Given the description of an element on the screen output the (x, y) to click on. 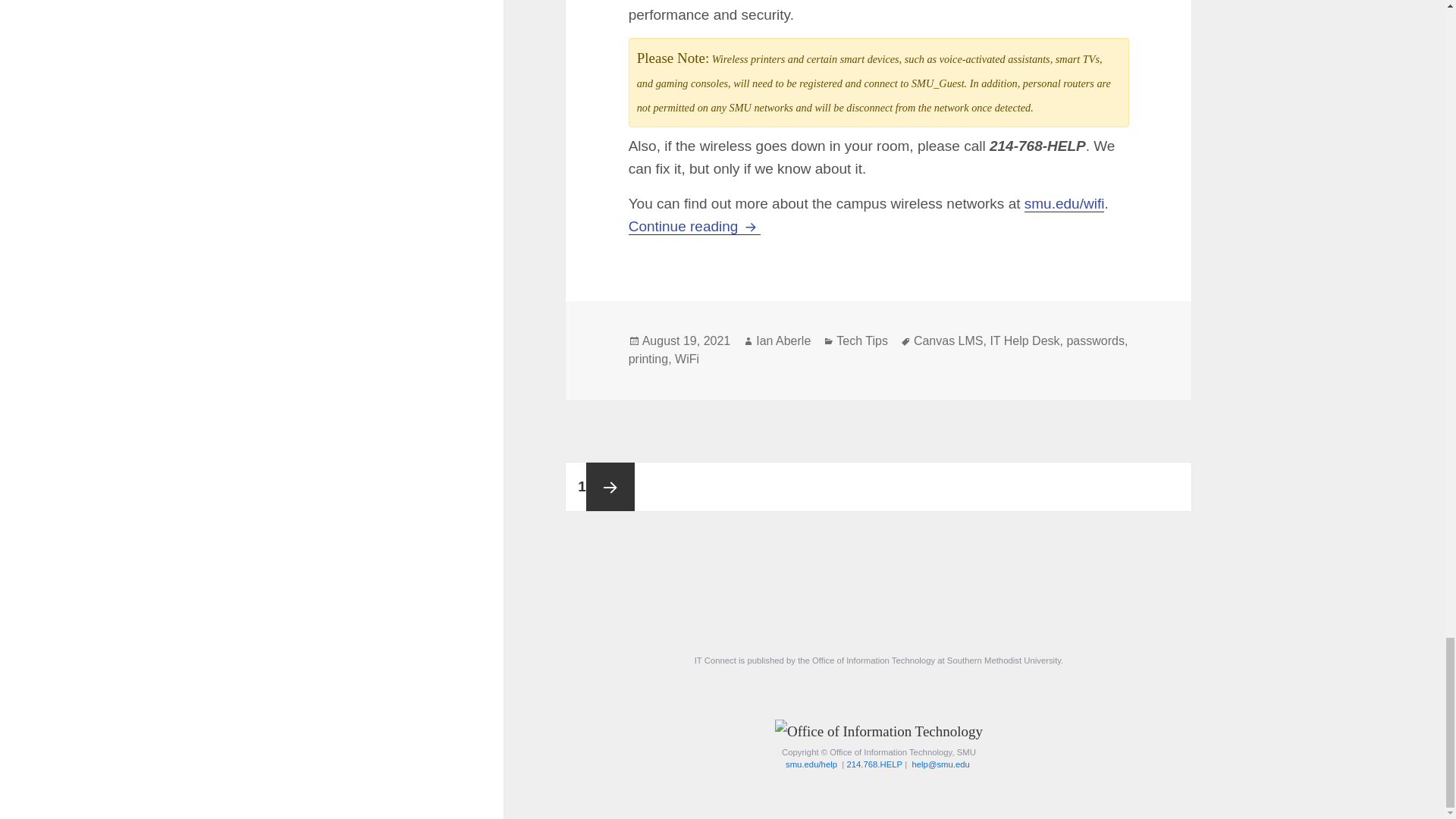
Email the IT Help Desk (940, 764)
Visit the IT Help Pages (811, 764)
Contact the IT Help Desk (873, 764)
